Given the description of an element on the screen output the (x, y) to click on. 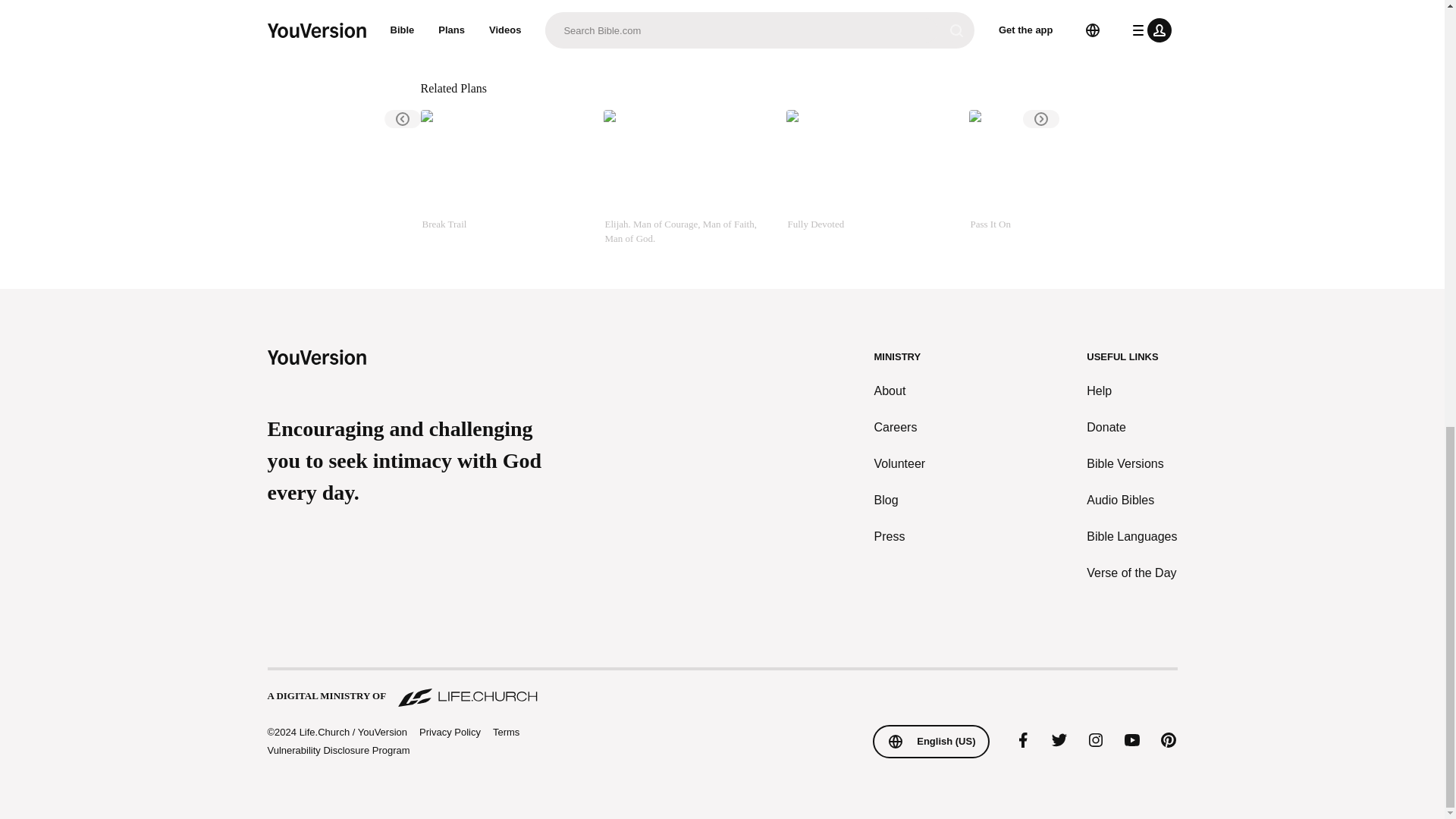
Volunteer (900, 464)
Pass It On (1054, 177)
About (900, 391)
Help (1131, 391)
Press (900, 536)
A DIGITAL MINISTRY OF (721, 688)
Verse of the Day (1131, 573)
Elijah. Man of Courage, Man of Faith, Man of God. (689, 177)
About The Publisher (514, 31)
Careers (900, 427)
